Given the description of an element on the screen output the (x, y) to click on. 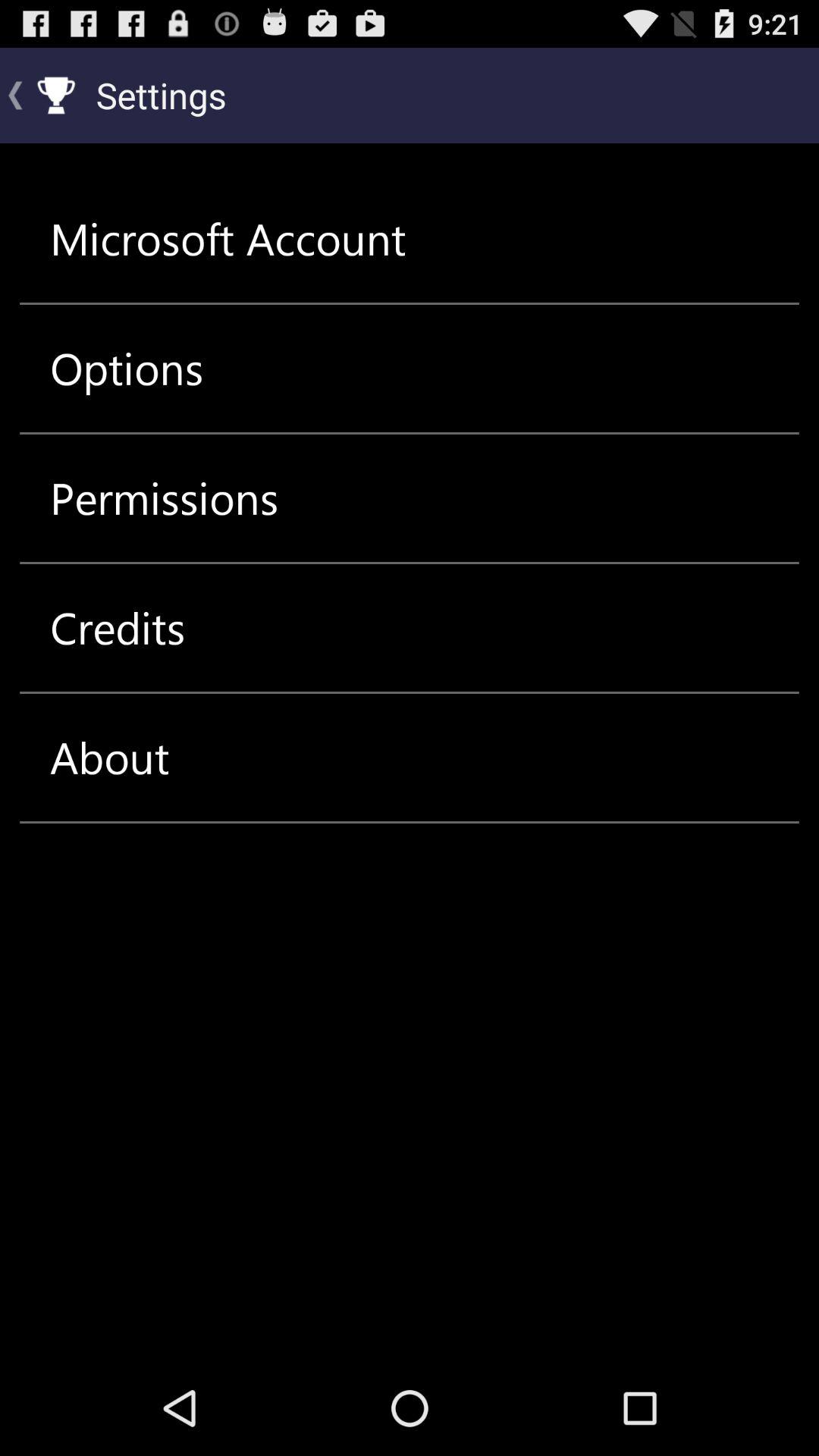
select the item below the options icon (164, 497)
